Given the description of an element on the screen output the (x, y) to click on. 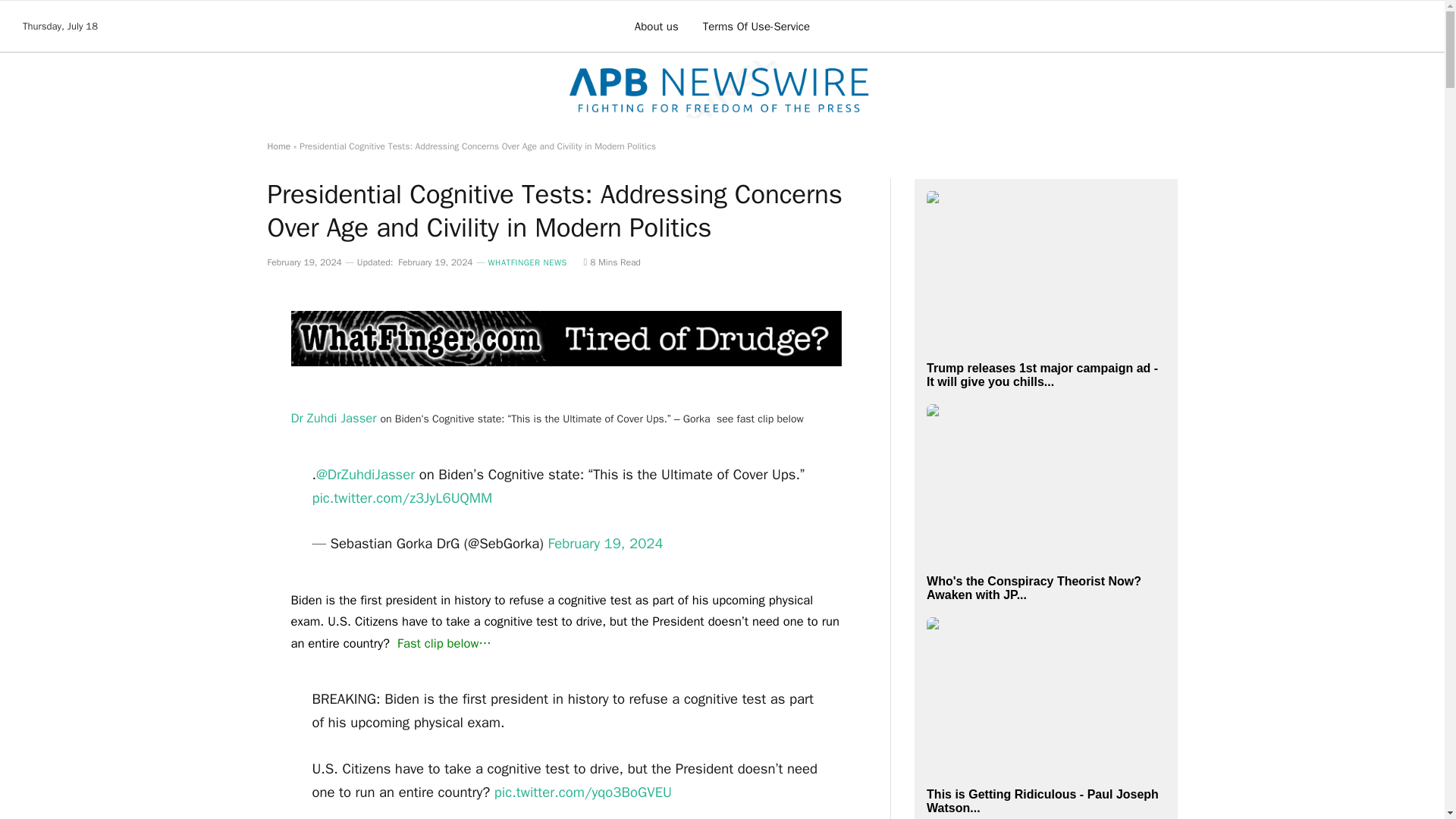
February 19, 2024 (604, 543)
About us (656, 25)
APB Newswire (721, 89)
WHATFINGER NEWS (527, 262)
Terms Of Use-Service (756, 25)
Dr Zuhdi Jasser (335, 417)
Home (277, 146)
